Given the description of an element on the screen output the (x, y) to click on. 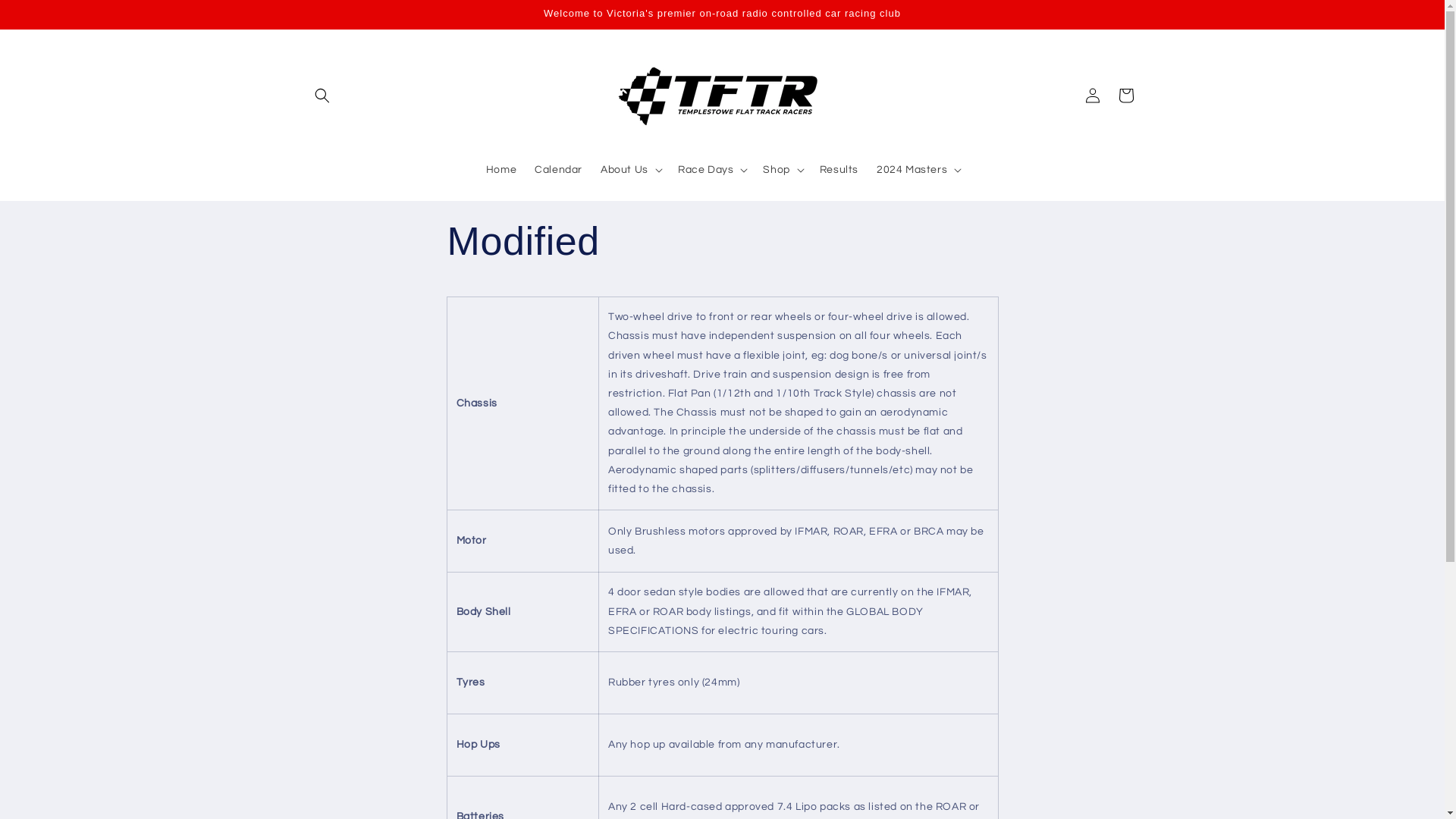
Home Element type: text (500, 169)
Results Element type: text (838, 169)
Cart Element type: text (1125, 95)
Calendar Element type: text (558, 169)
Log in Element type: text (1091, 95)
